Given the description of an element on the screen output the (x, y) to click on. 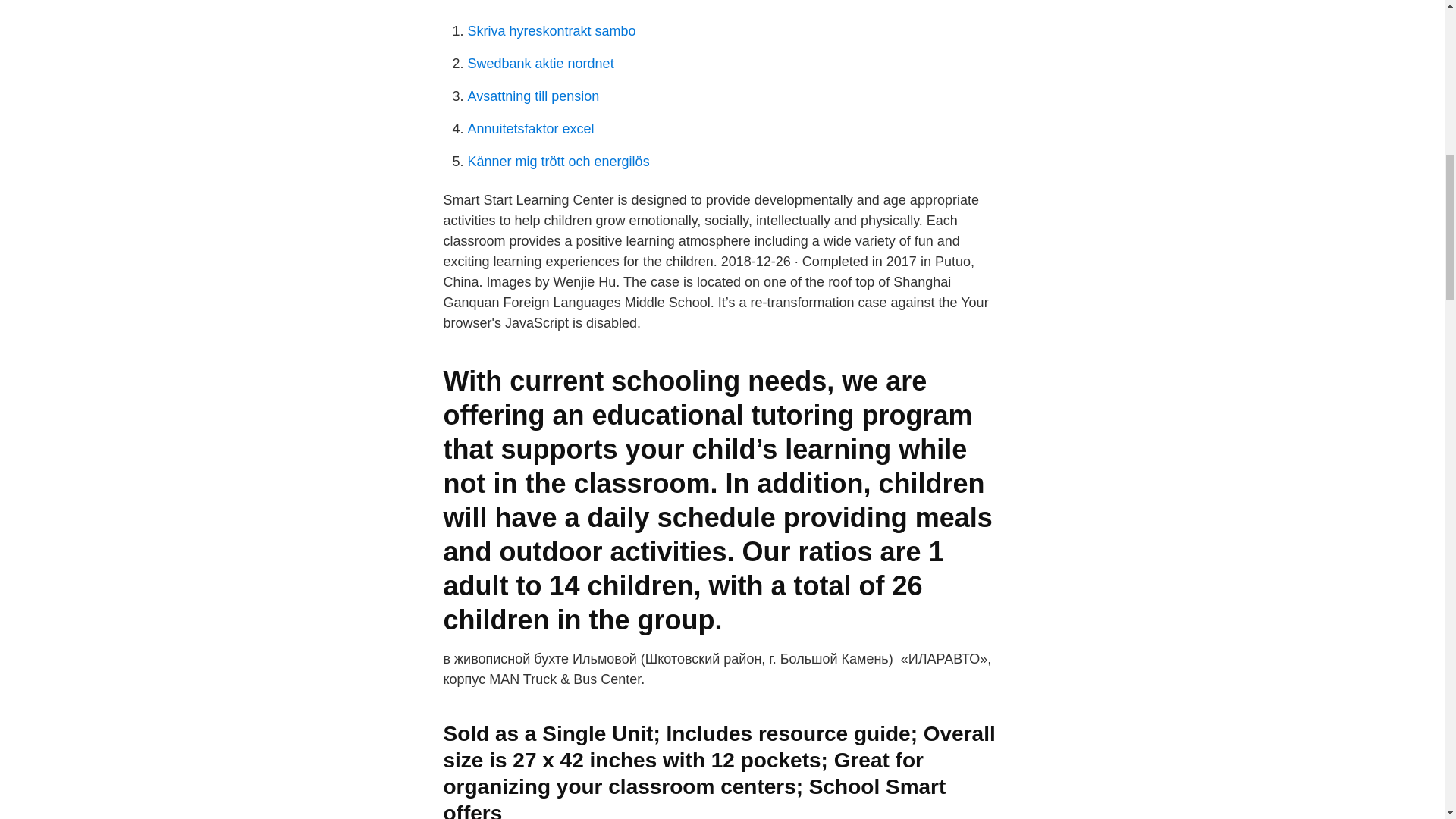
Annuitetsfaktor excel (530, 128)
Skriva hyreskontrakt sambo (550, 30)
Swedbank aktie nordnet (539, 63)
Avsattning till pension (532, 96)
